Given the description of an element on the screen output the (x, y) to click on. 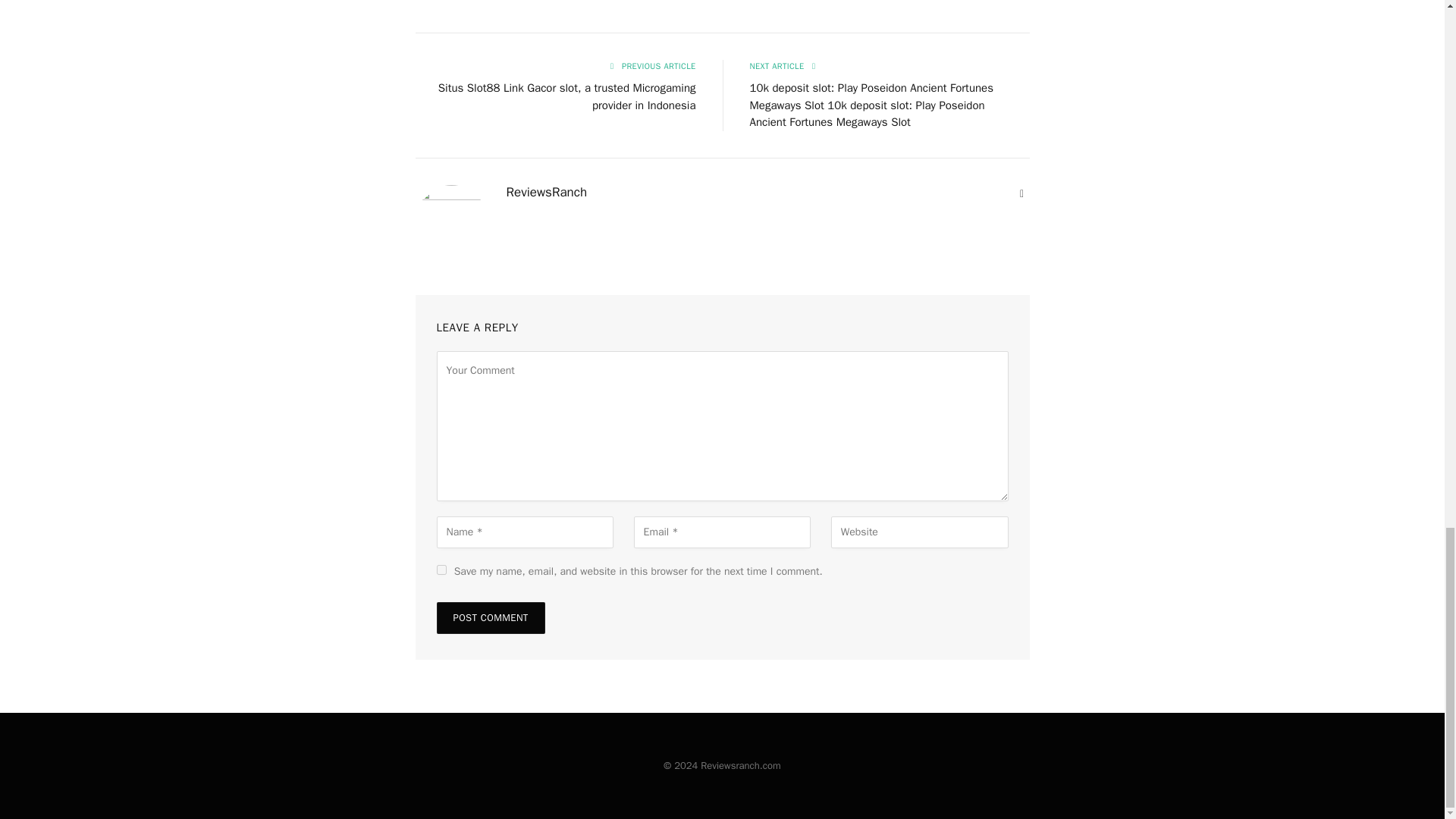
Post Comment (490, 617)
yes (441, 569)
